Given the description of an element on the screen output the (x, y) to click on. 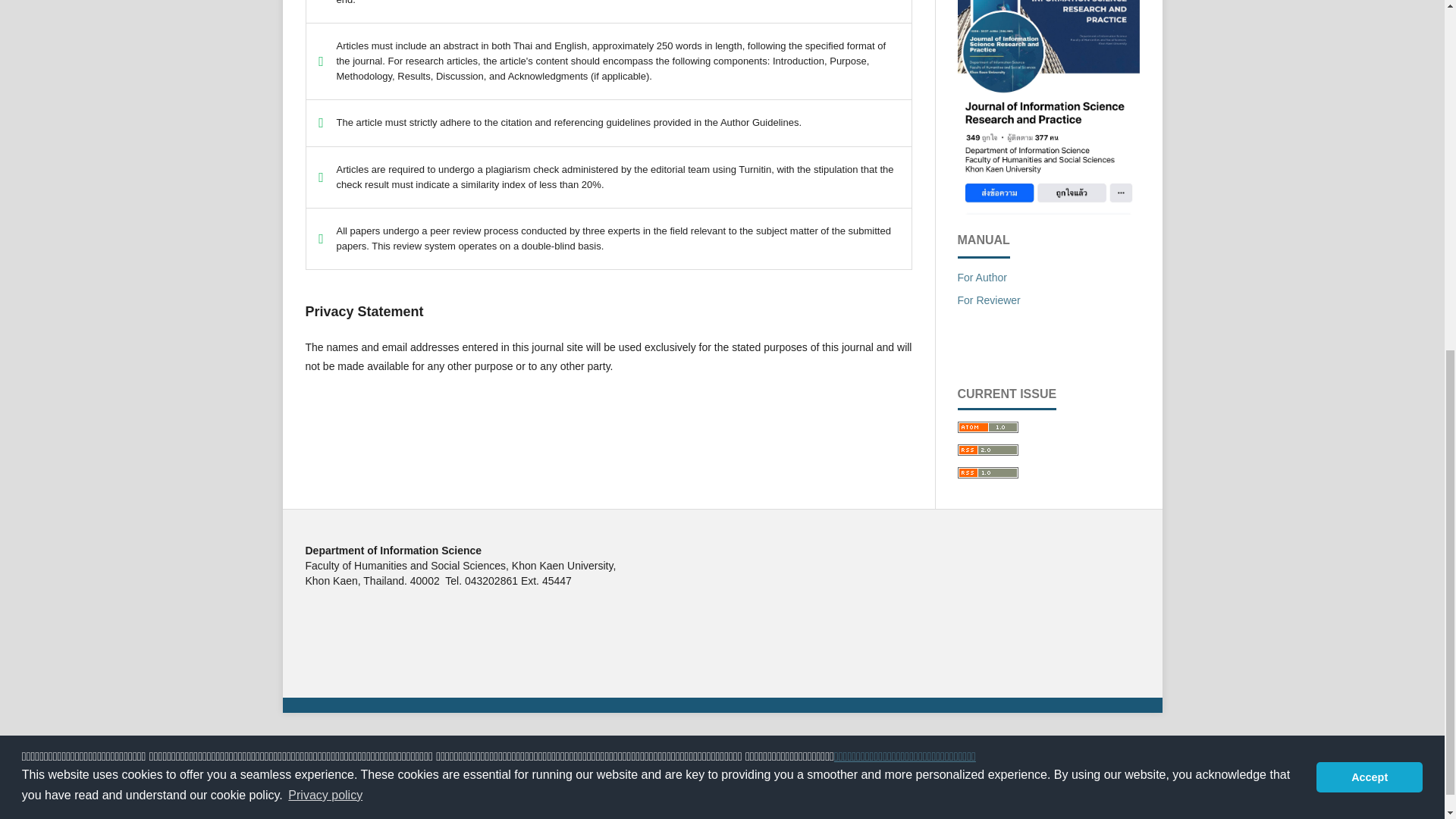
For Author (981, 277)
For Reviewer (988, 300)
Privacy policy (1364, 185)
Privacy policy (325, 169)
Accept (1369, 150)
